Given the description of an element on the screen output the (x, y) to click on. 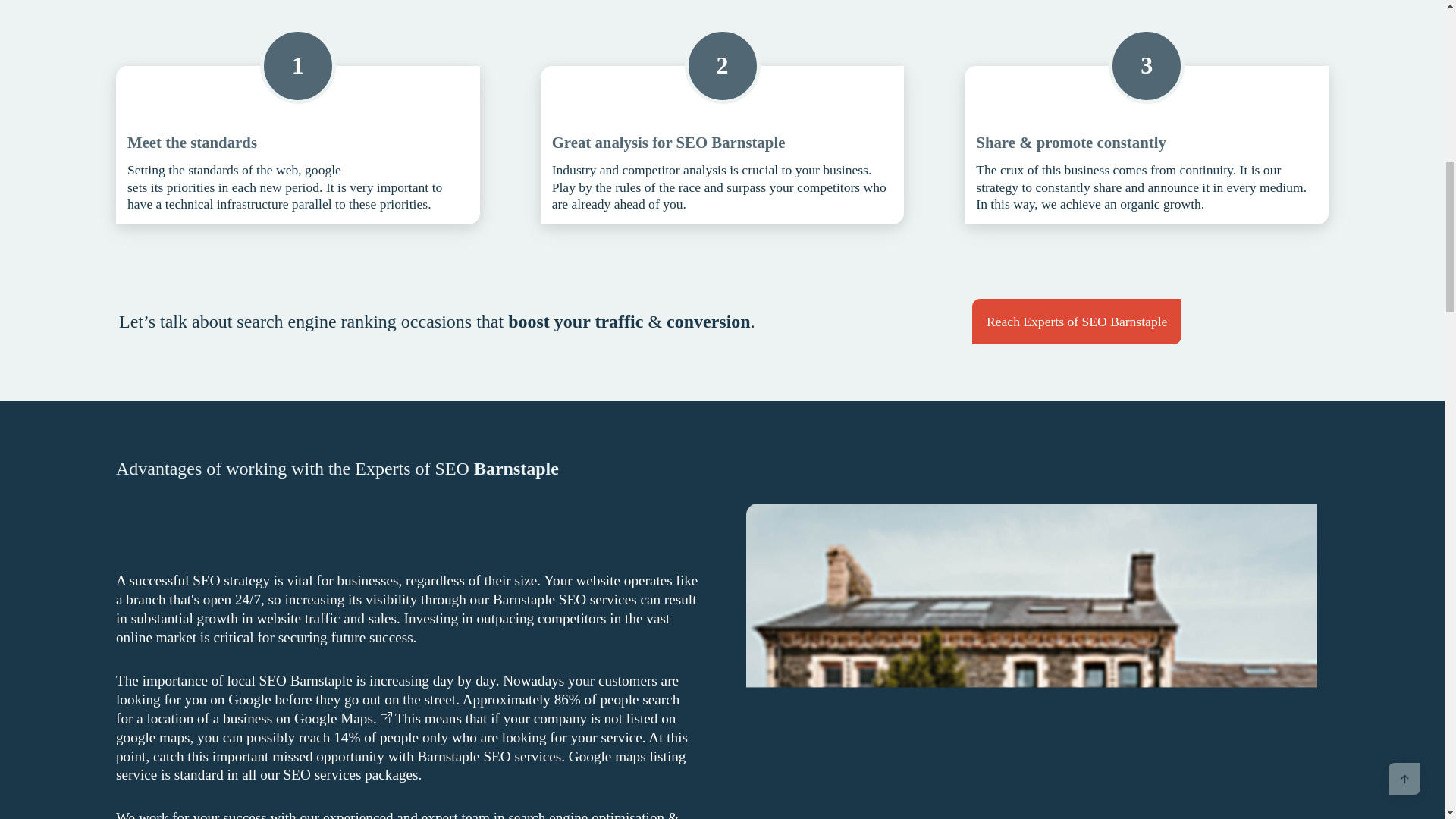
Reach Experts of SEO Barnstaple (1076, 320)
